Given the description of an element on the screen output the (x, y) to click on. 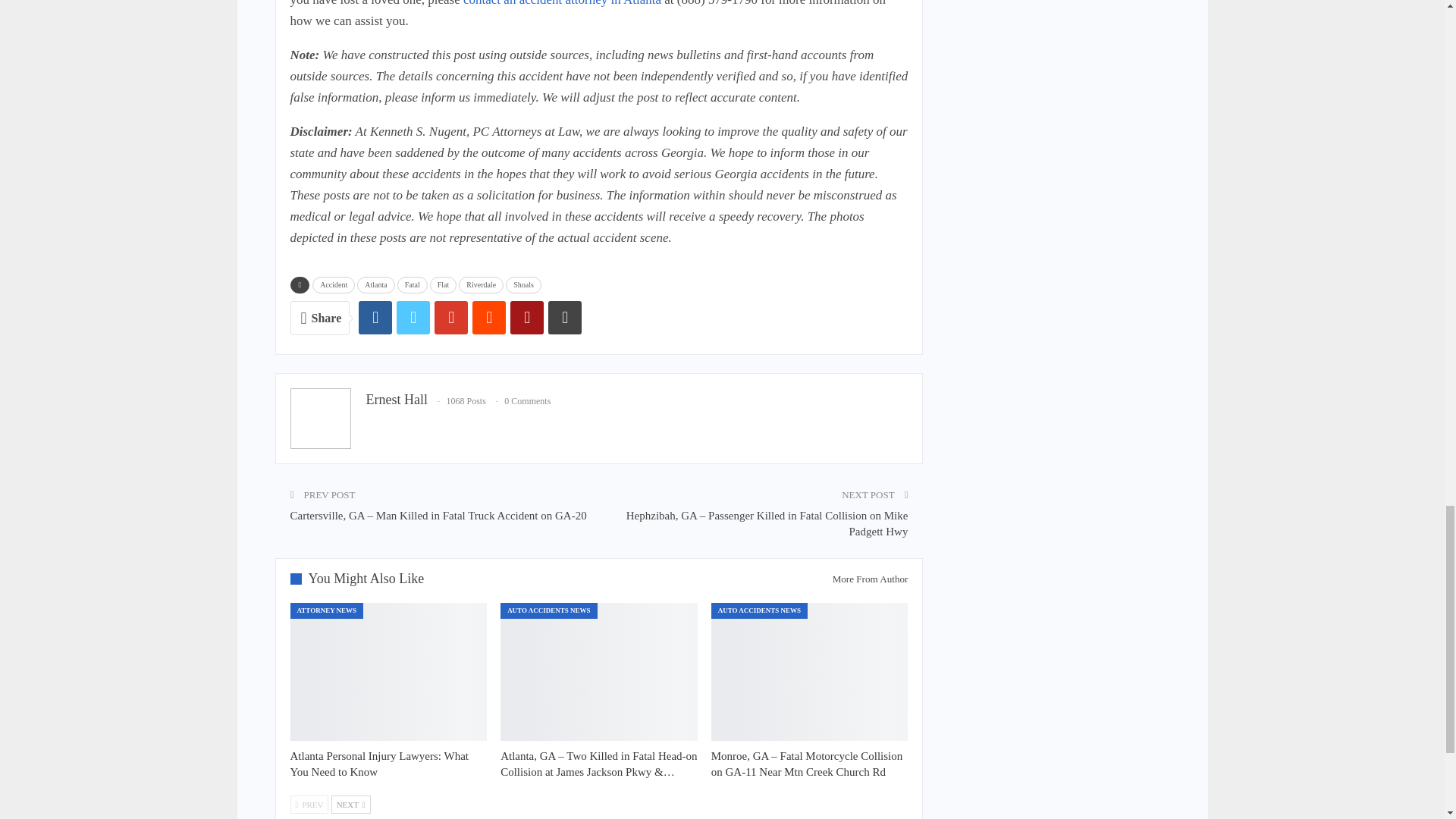
Atlanta (375, 284)
Previous (309, 804)
contact an accident attorney in Atlanta (562, 3)
Atlanta Personal Injury Lawyers: What You Need to Know (387, 671)
Fatal (412, 284)
Next (351, 804)
Atlanta Personal Injury Lawyers: What You Need to Know (378, 764)
Accident (334, 284)
